Given the description of an element on the screen output the (x, y) to click on. 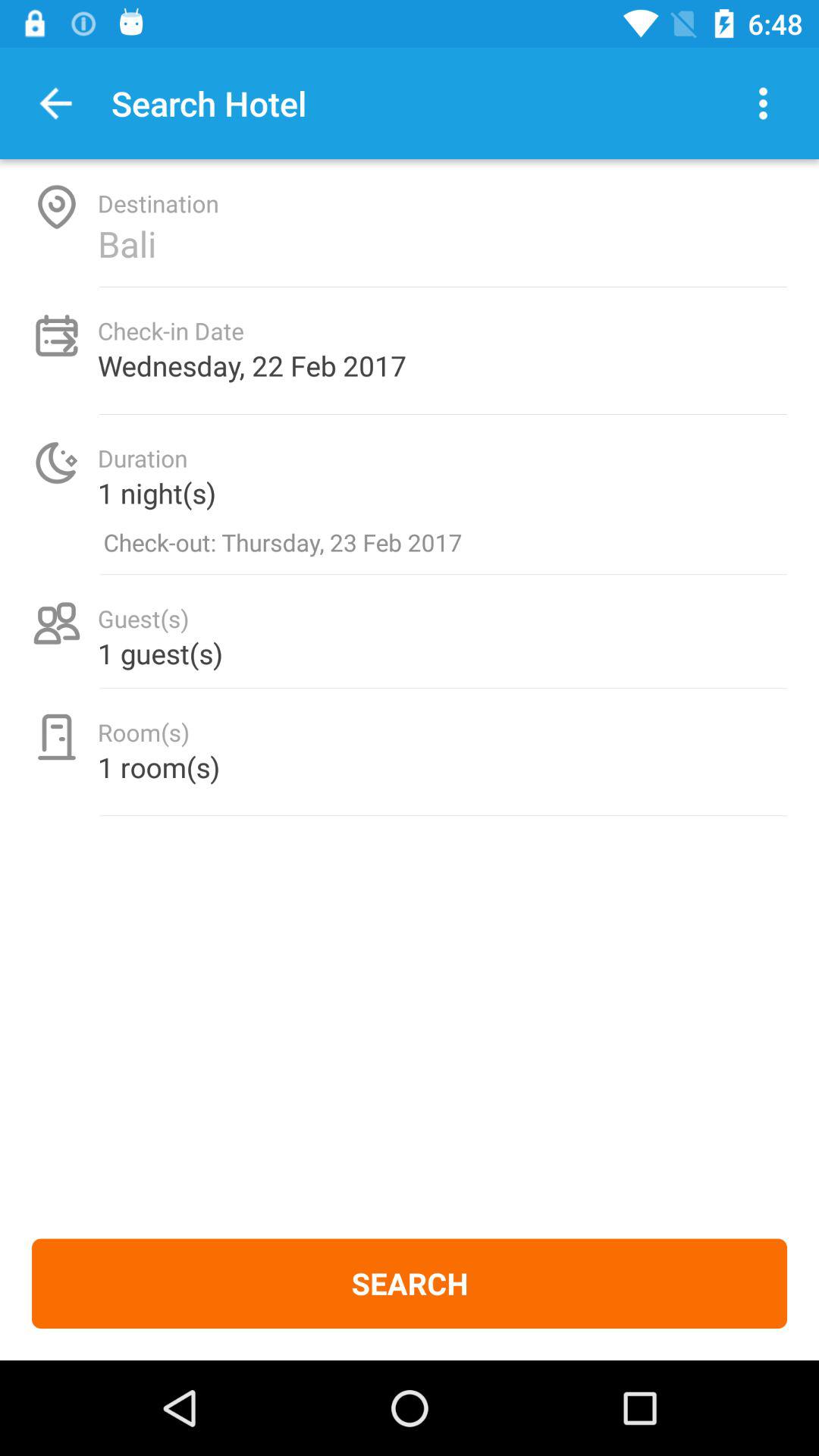
go back (55, 103)
